Given the description of an element on the screen output the (x, y) to click on. 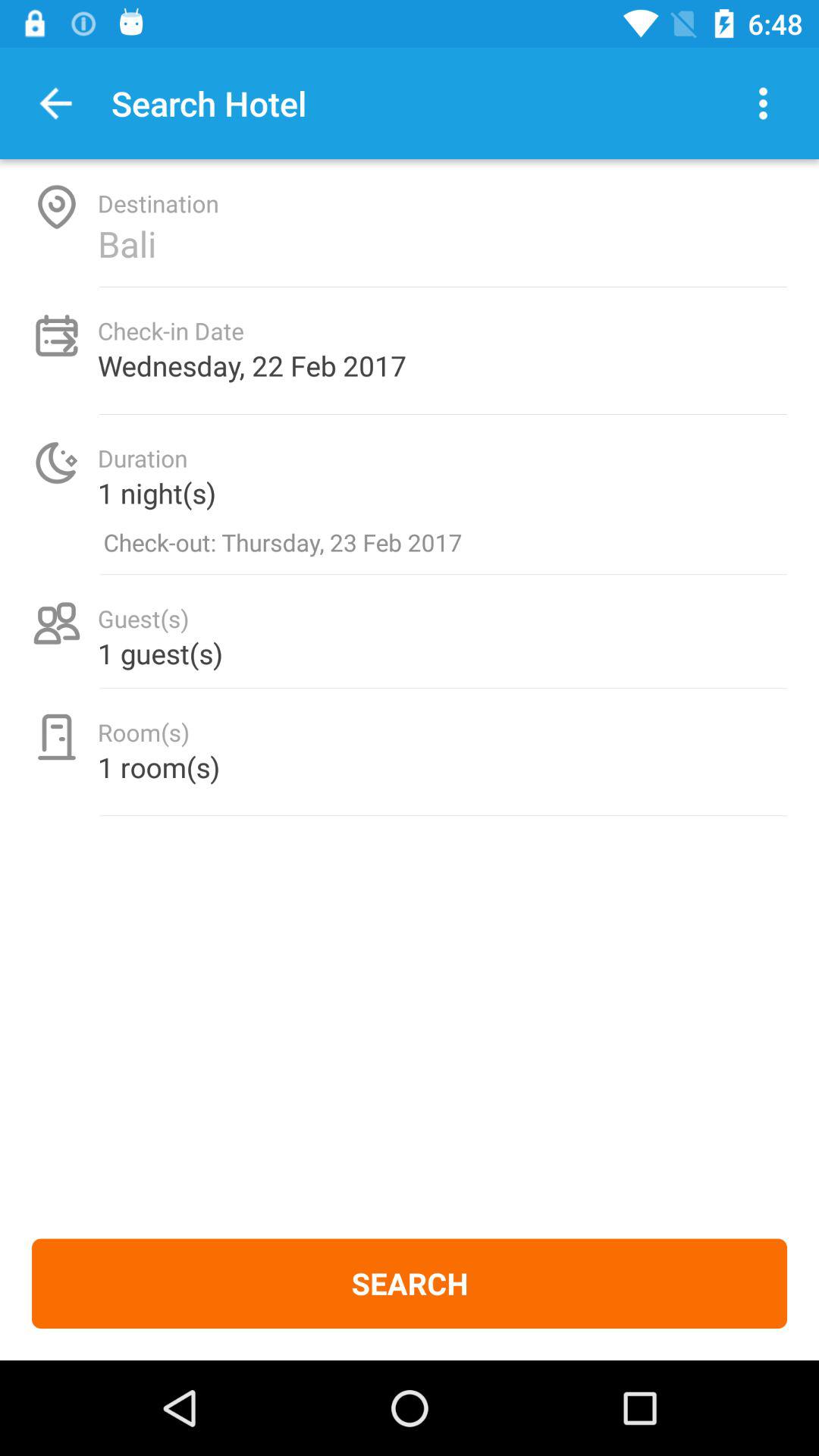
go back (55, 103)
